Given the description of an element on the screen output the (x, y) to click on. 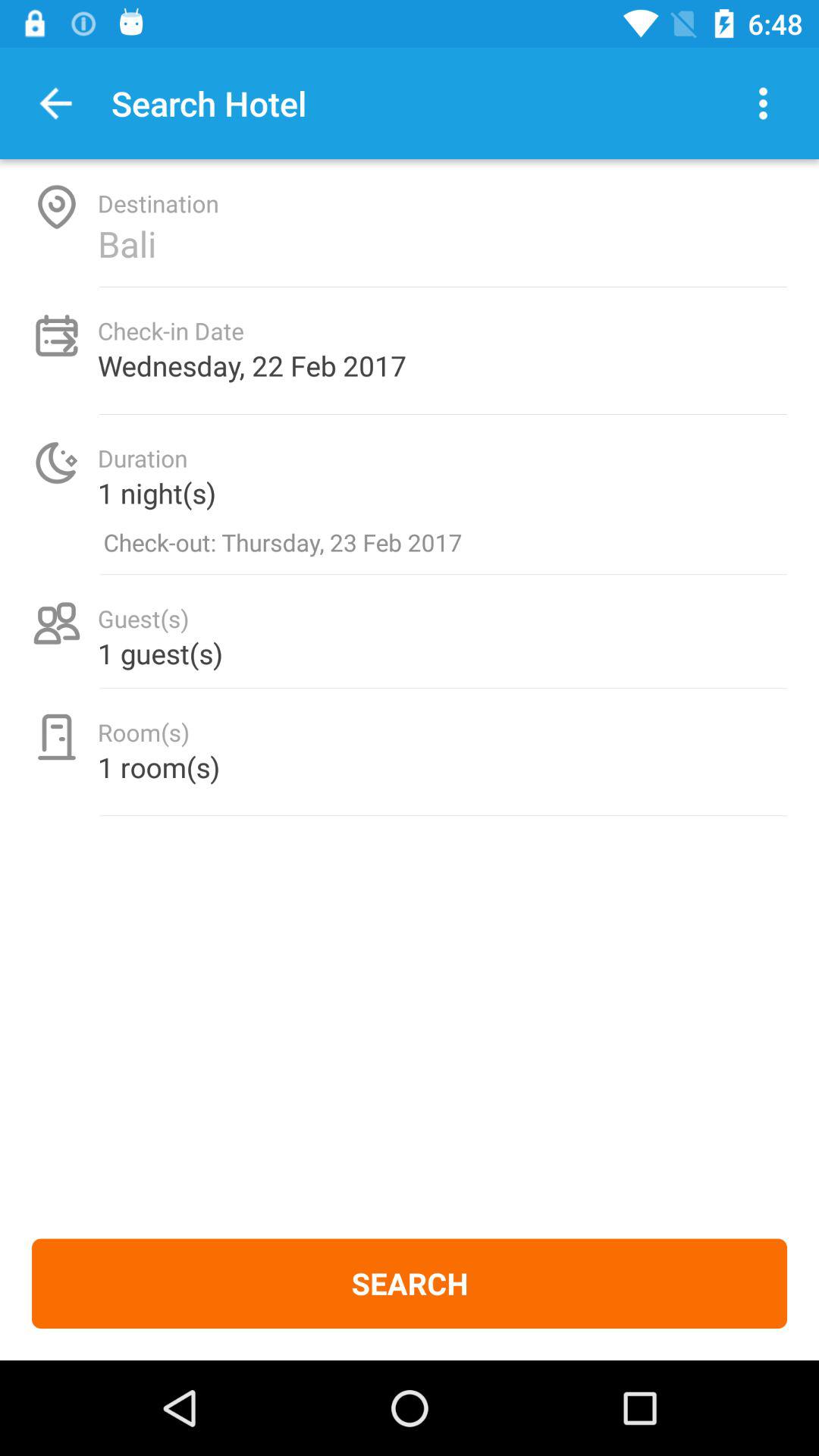
go back (55, 103)
